Given the description of an element on the screen output the (x, y) to click on. 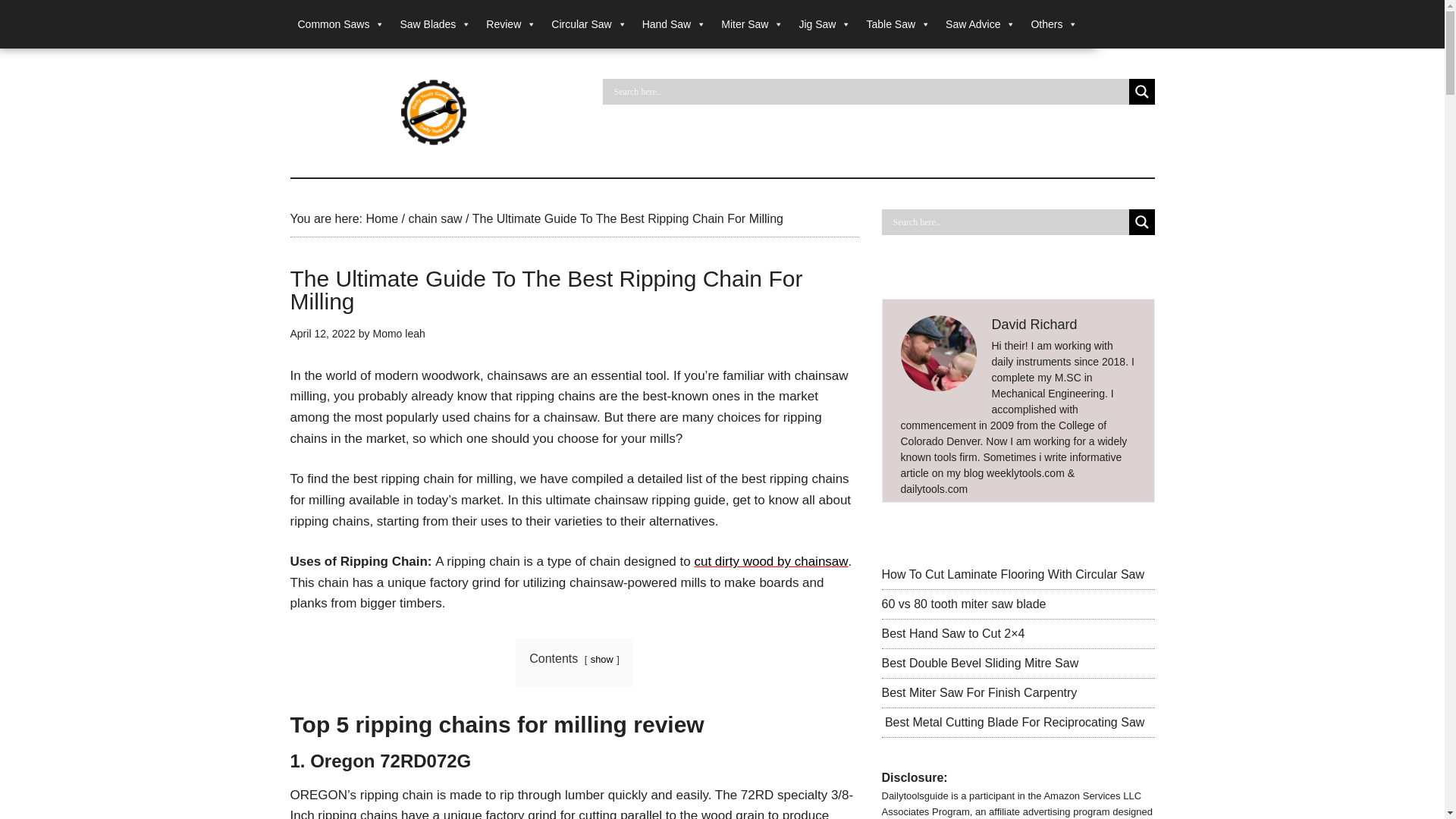
Saw Blades (435, 24)
Circular Saw (588, 24)
Review (511, 24)
Common Saws (340, 24)
